Given the description of an element on the screen output the (x, y) to click on. 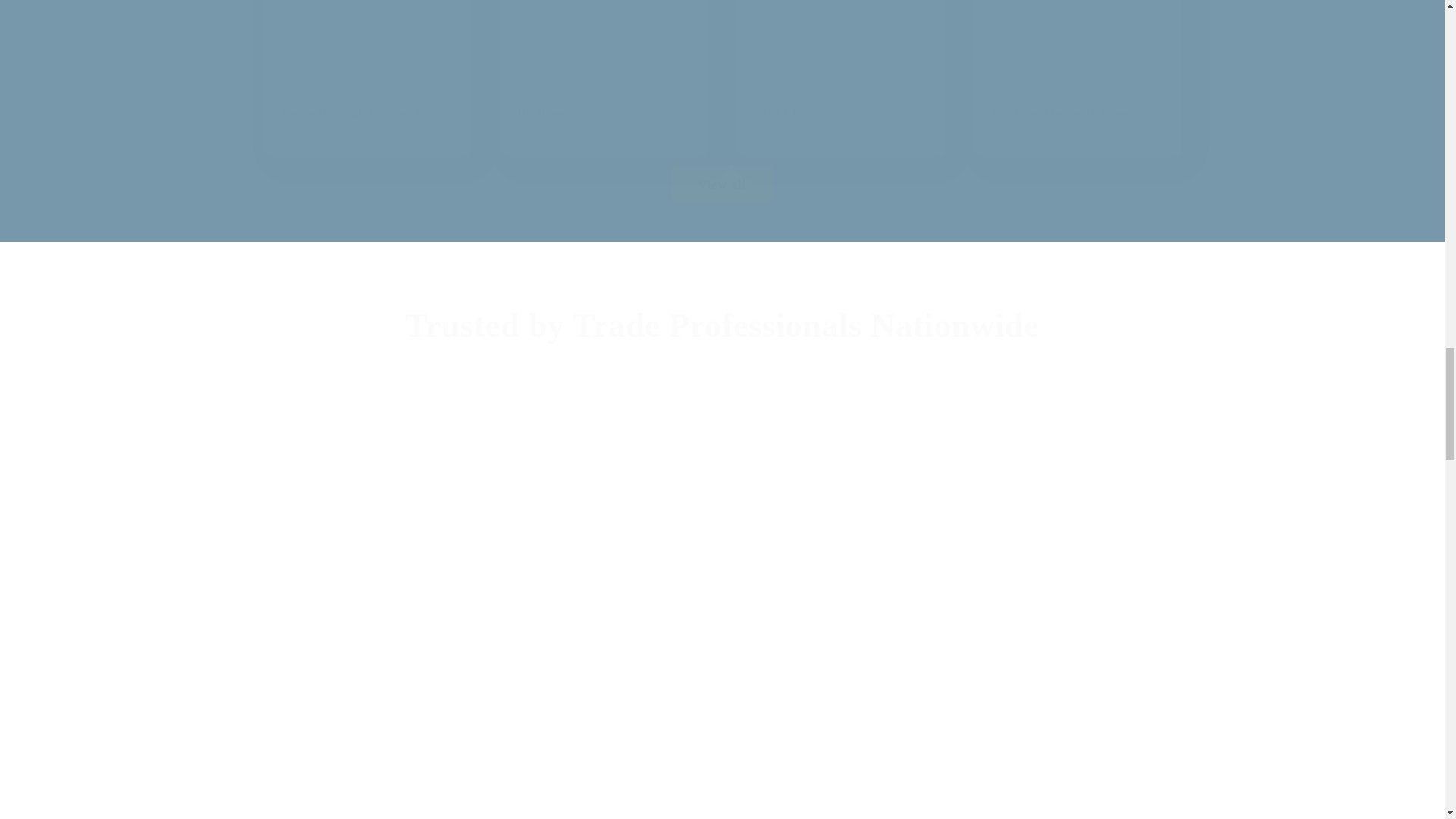
0 (839, 662)
0 (839, 782)
0 (1037, 497)
0 (406, 497)
0 (1077, 662)
Ute Drawers (603, 78)
Van False Floor with Drawers (1077, 78)
0 (366, 662)
0 (1077, 782)
0 (603, 782)
